Given the description of an element on the screen output the (x, y) to click on. 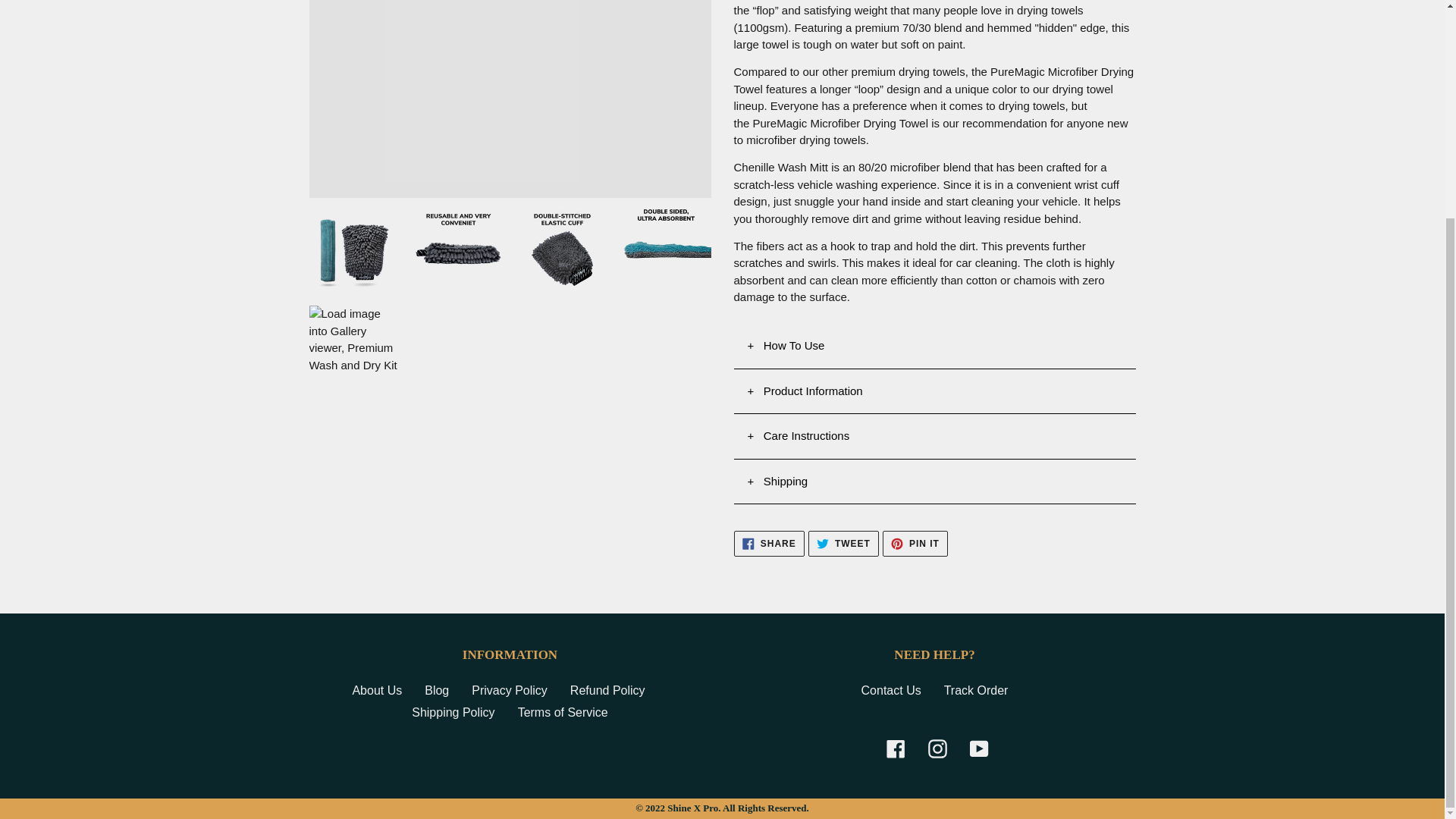
About Us (376, 689)
